Given the description of an element on the screen output the (x, y) to click on. 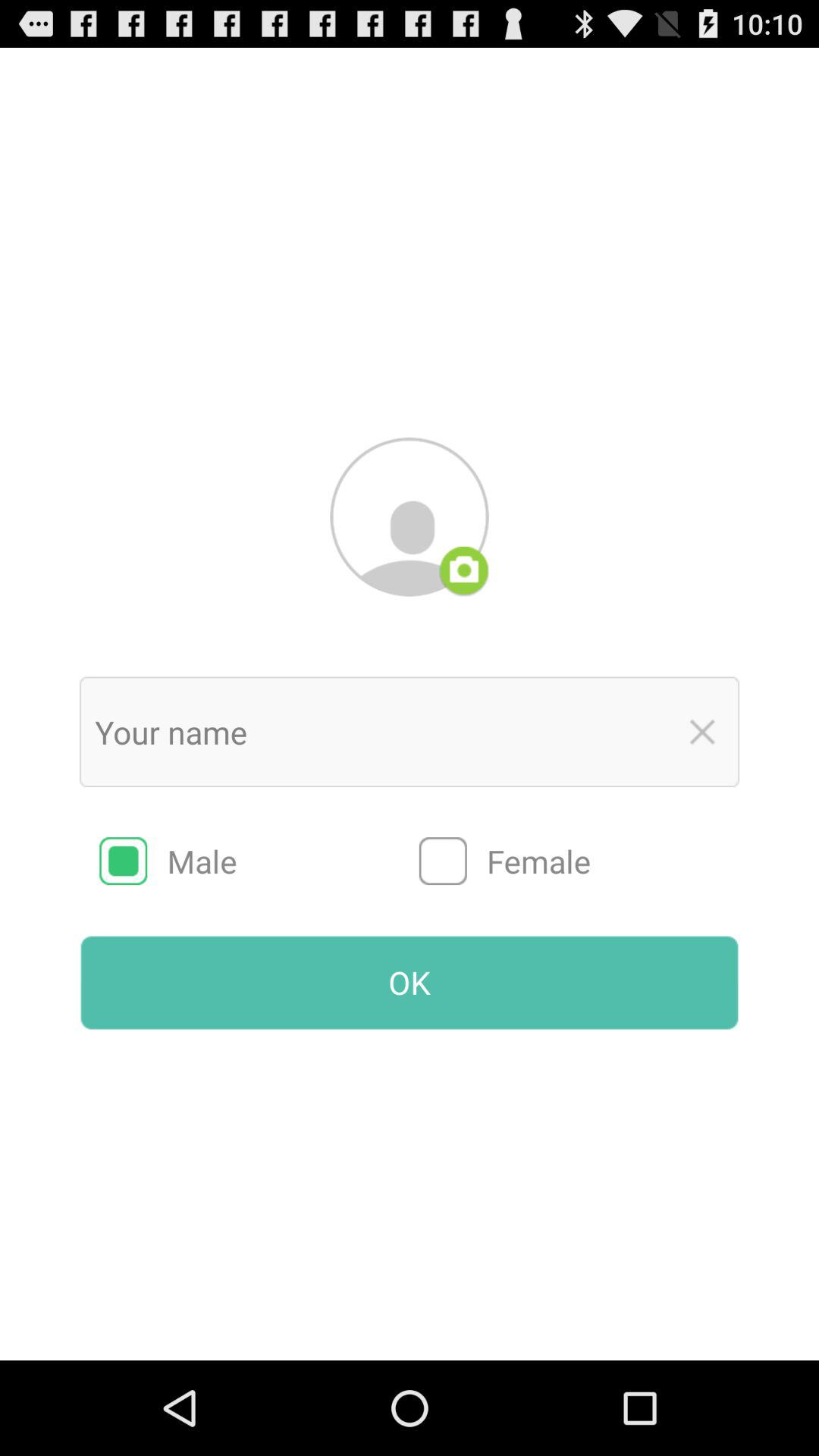
choose the radio button below male item (409, 982)
